Given the description of an element on the screen output the (x, y) to click on. 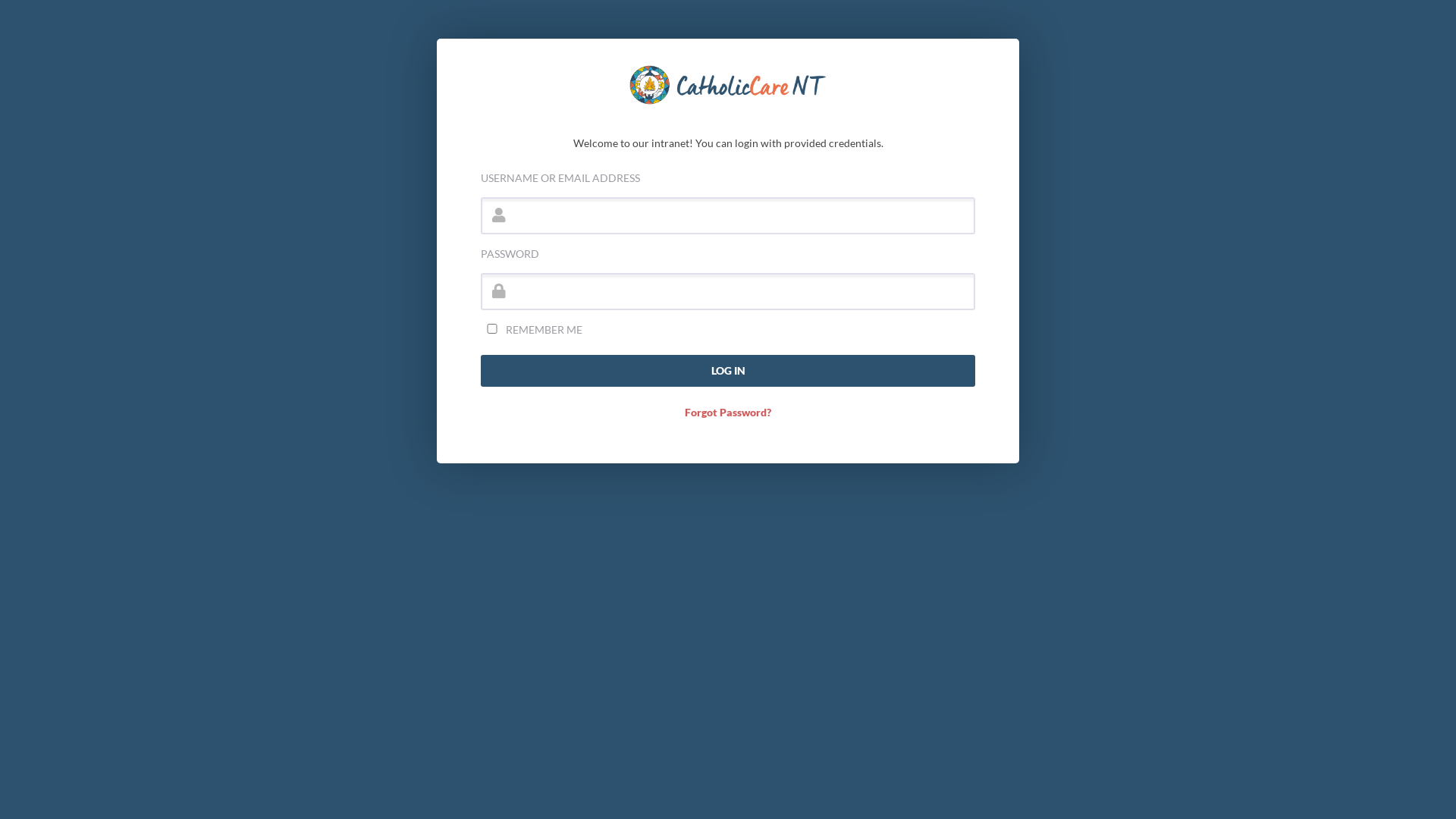
Log In Element type: text (727, 370)
Forgot Password? Element type: text (727, 412)
